Given the description of an element on the screen output the (x, y) to click on. 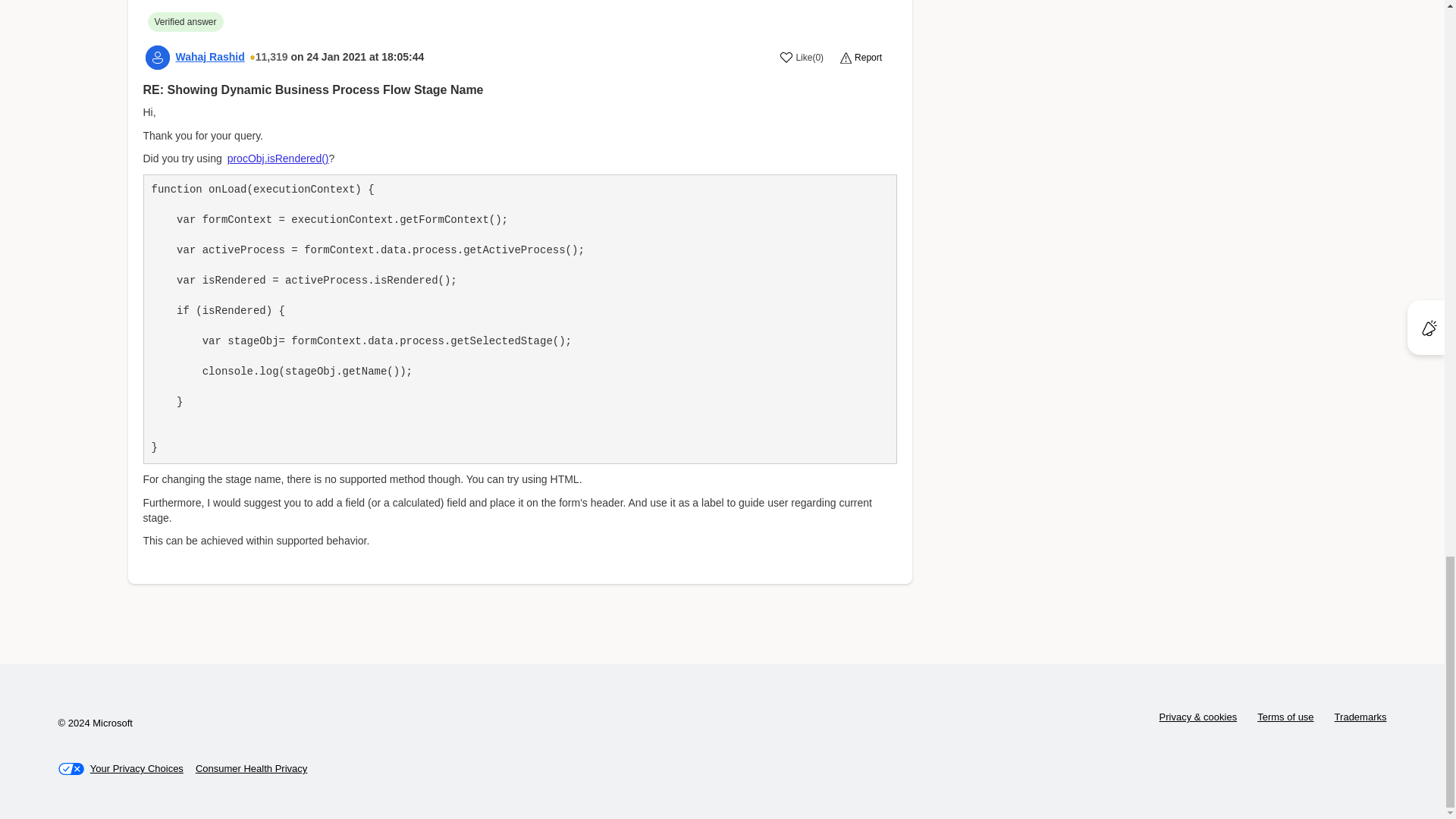
Wahaj Rashid (210, 56)
